Given the description of an element on the screen output the (x, y) to click on. 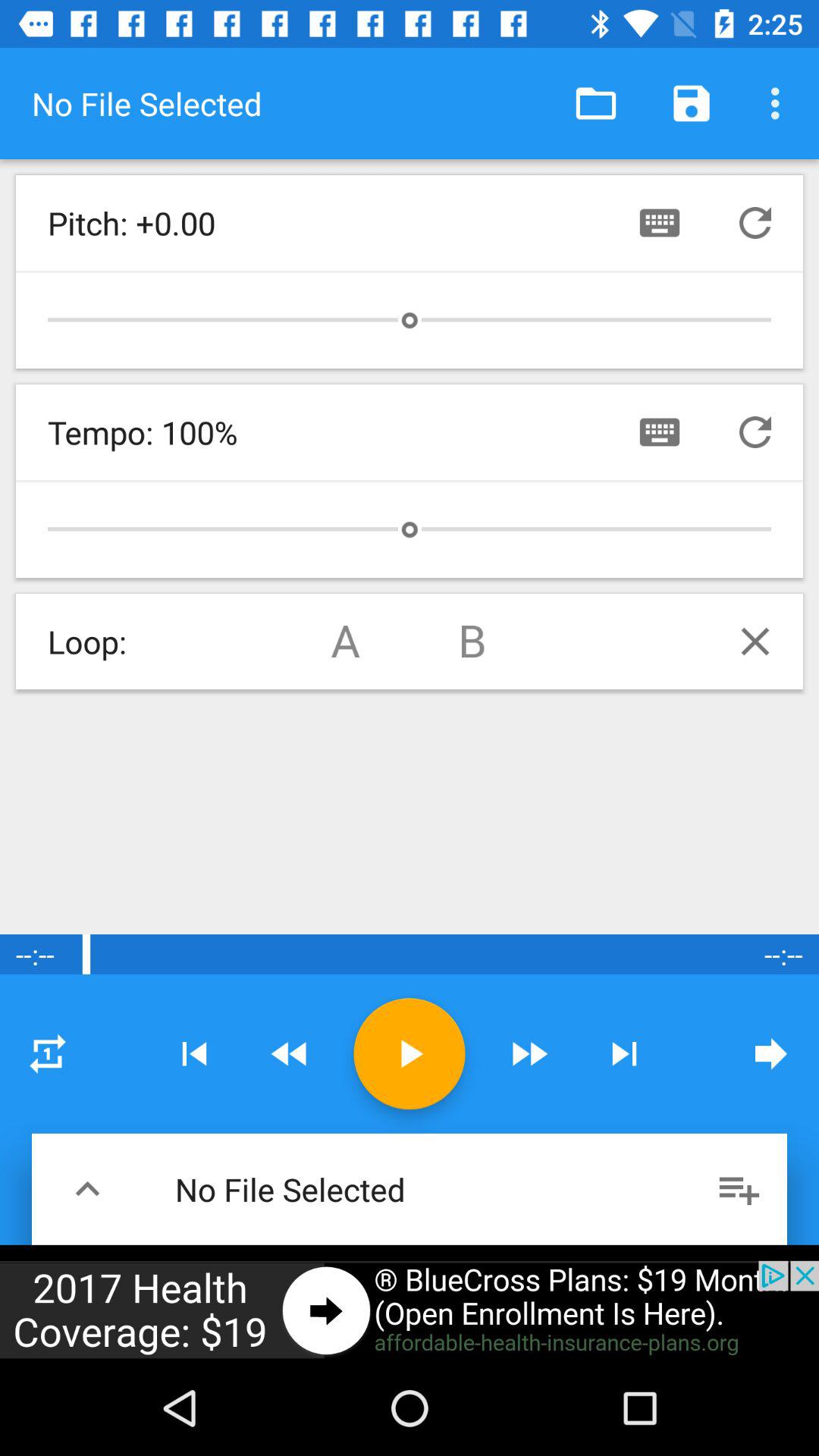
previous (87, 1188)
